Given the description of an element on the screen output the (x, y) to click on. 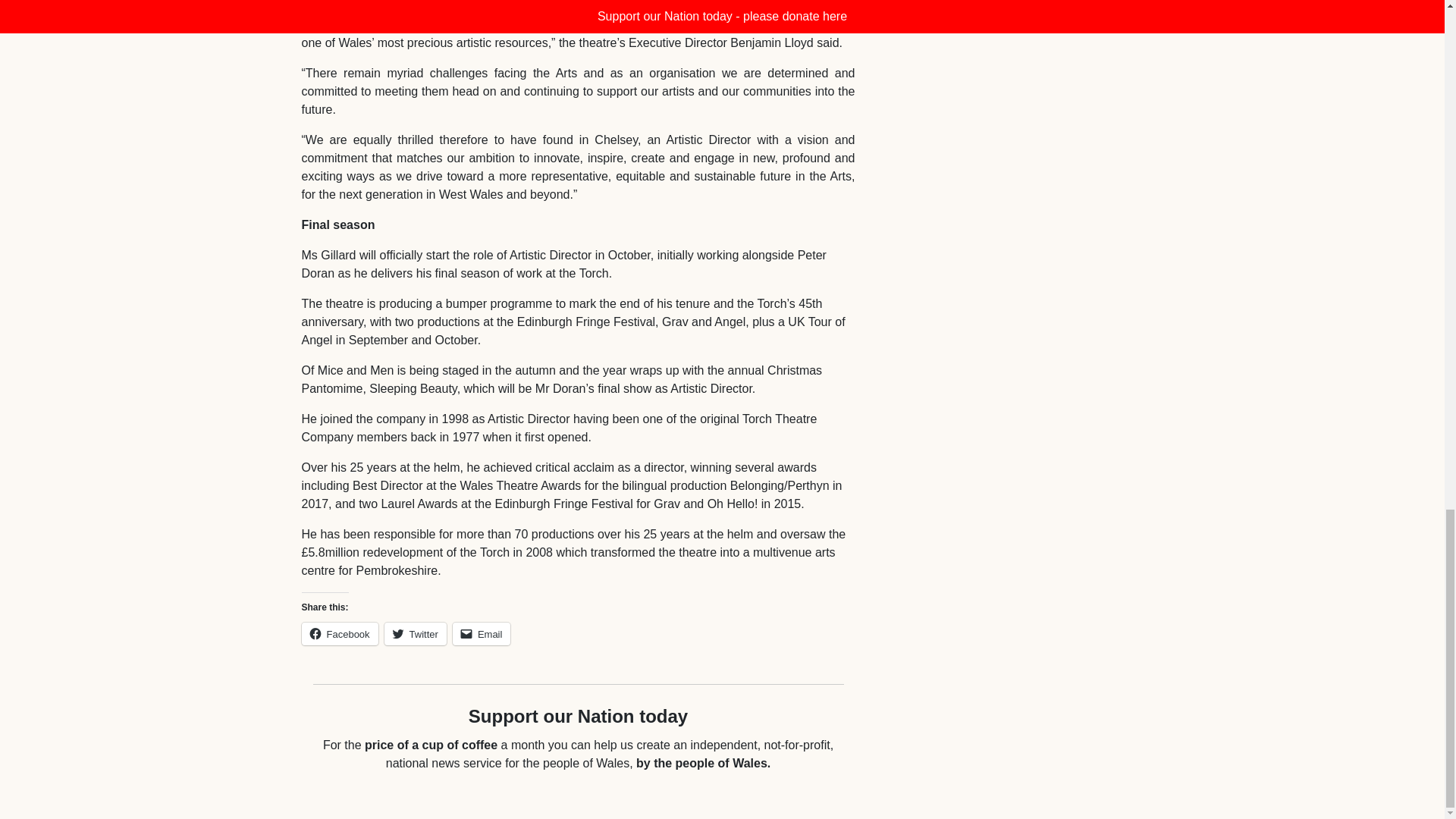
Twitter (415, 633)
Click to share on Twitter (415, 633)
Click to email a link to a friend (481, 633)
Email (481, 633)
Click to share on Facebook (339, 633)
Facebook (339, 633)
